Given the description of an element on the screen output the (x, y) to click on. 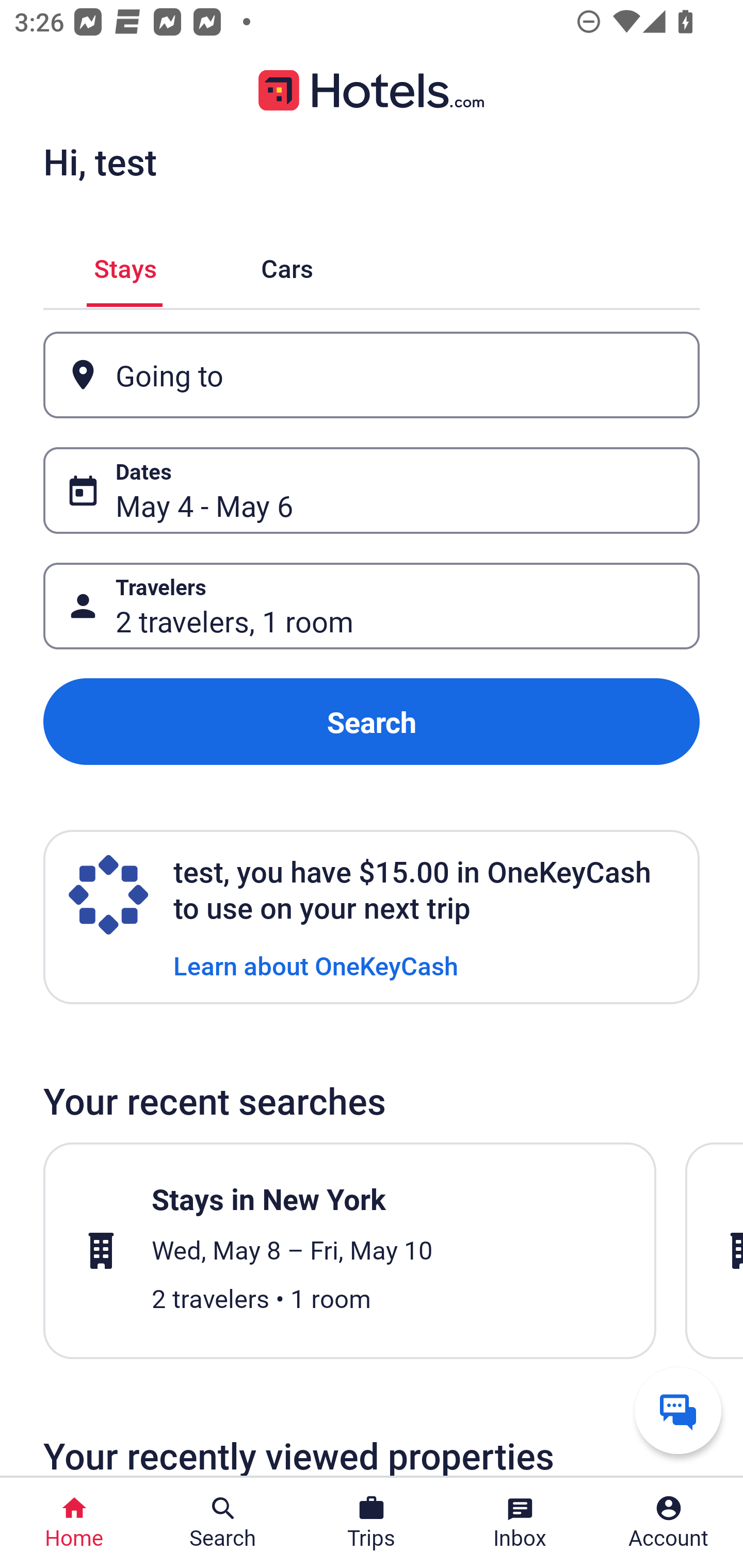
Hi, test (99, 161)
Cars (286, 265)
Going to Button (371, 375)
Dates Button May 4 - May 6 (371, 489)
Travelers Button 2 travelers, 1 room (371, 605)
Search (371, 721)
Learn about OneKeyCash Learn about OneKeyCash Link (315, 964)
Get help from a virtual agent (677, 1410)
Search Search Button (222, 1522)
Trips Trips Button (371, 1522)
Inbox Inbox Button (519, 1522)
Account Profile. Button (668, 1522)
